Given the description of an element on the screen output the (x, y) to click on. 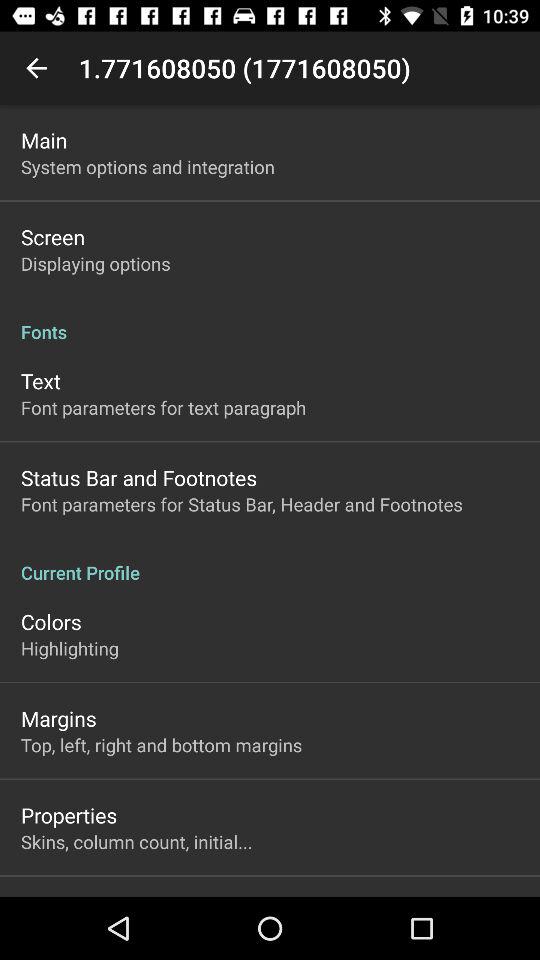
press item above fonts (95, 263)
